Given the description of an element on the screen output the (x, y) to click on. 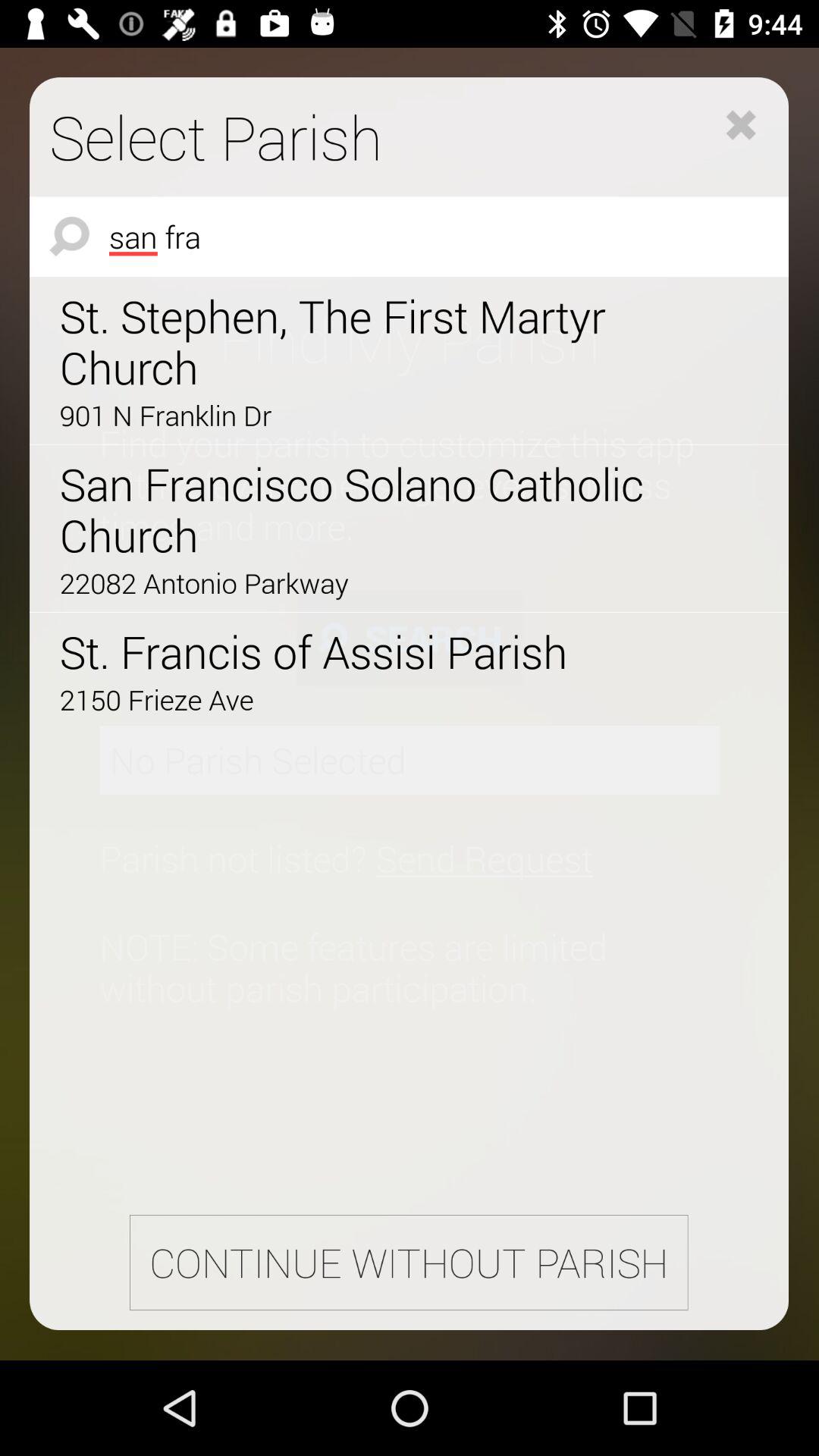
launch the item above san francisco solano item (366, 414)
